Given the description of an element on the screen output the (x, y) to click on. 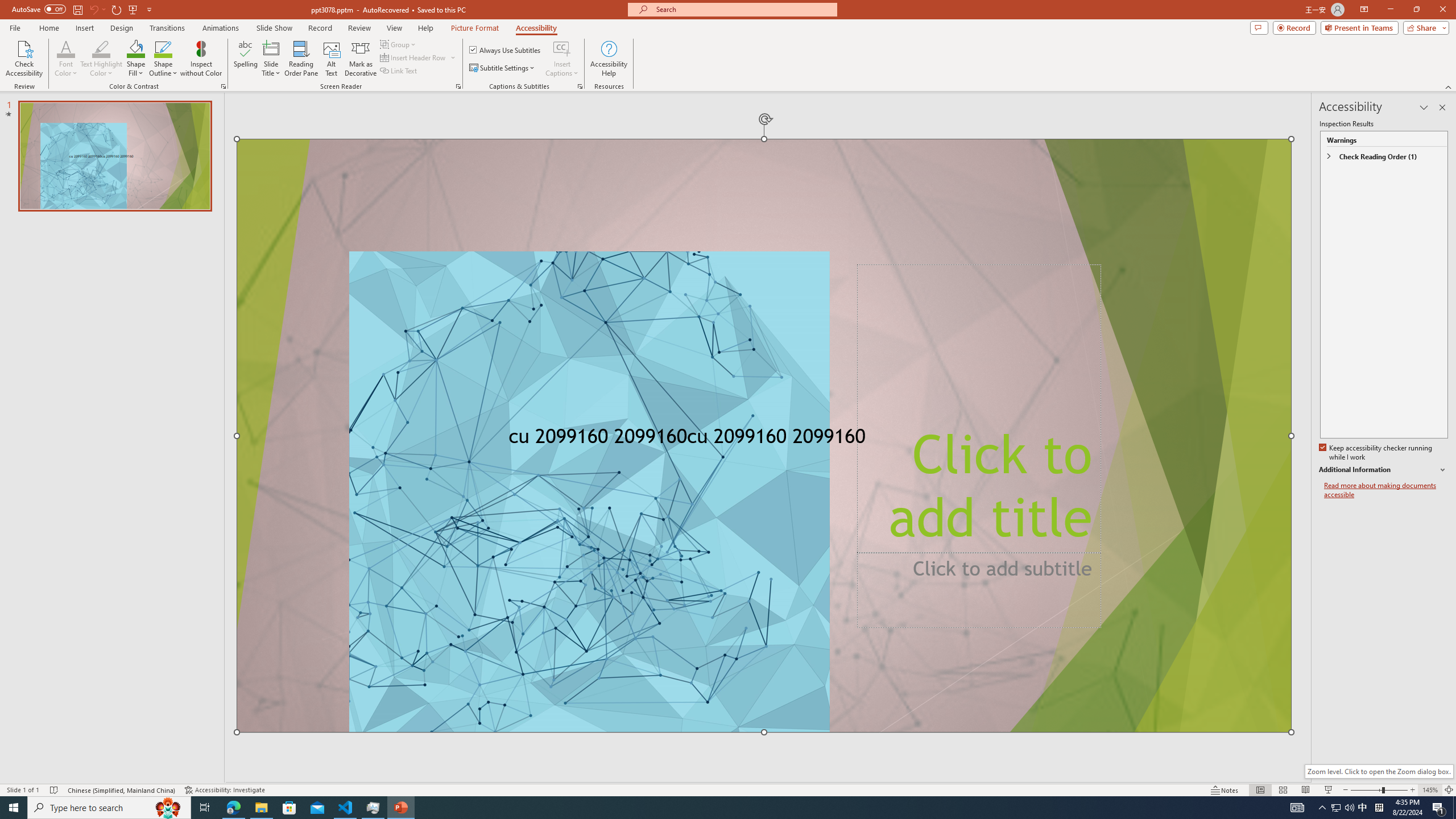
Picture Format (475, 28)
Subtitle Settings (502, 67)
Color & Contrast (223, 85)
Shape Outline Green, Accent 1 (163, 48)
